Given the description of an element on the screen output the (x, y) to click on. 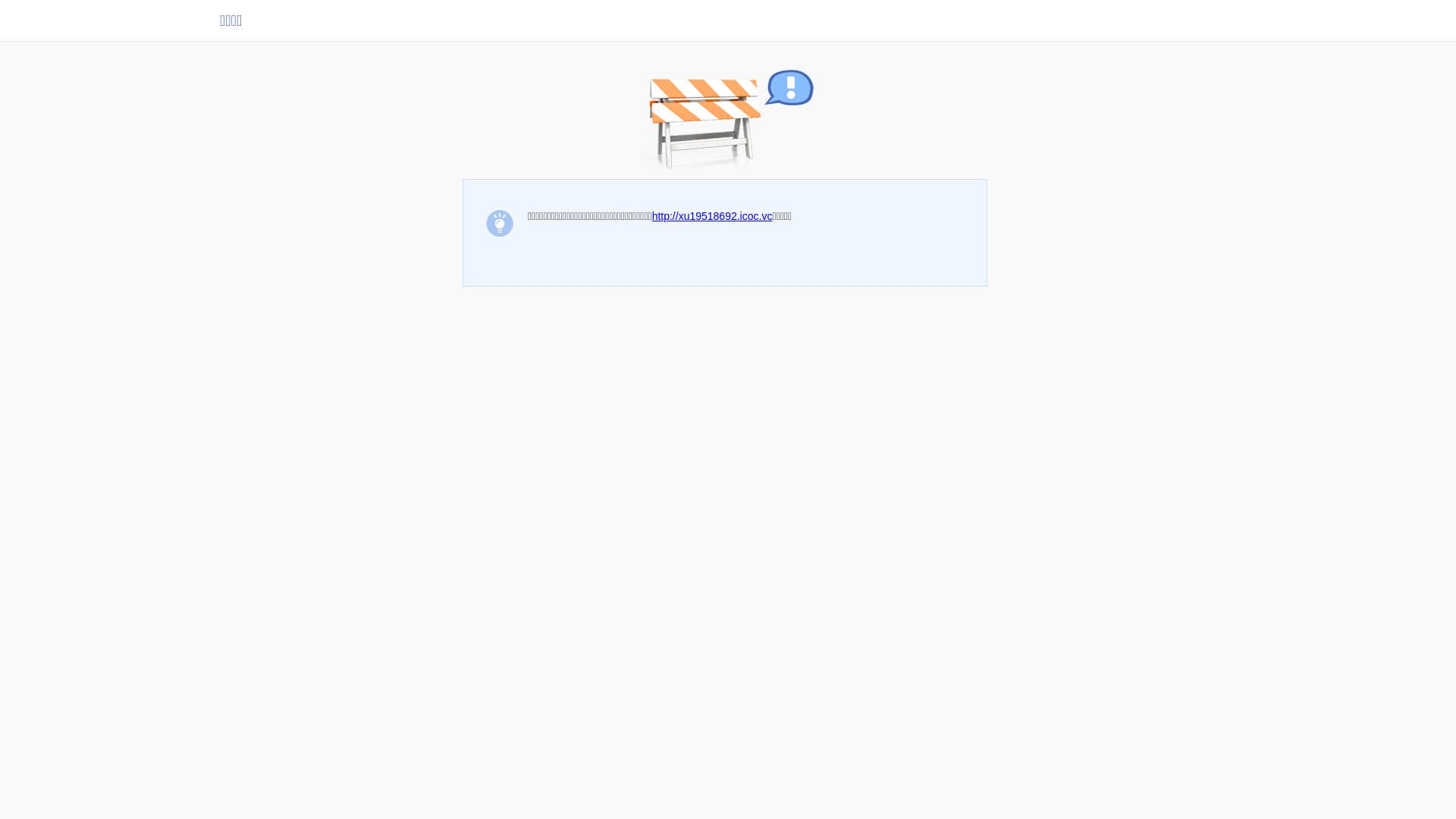
http://xu19518692.icoc.vc Element type: text (712, 216)
